Given the description of an element on the screen output the (x, y) to click on. 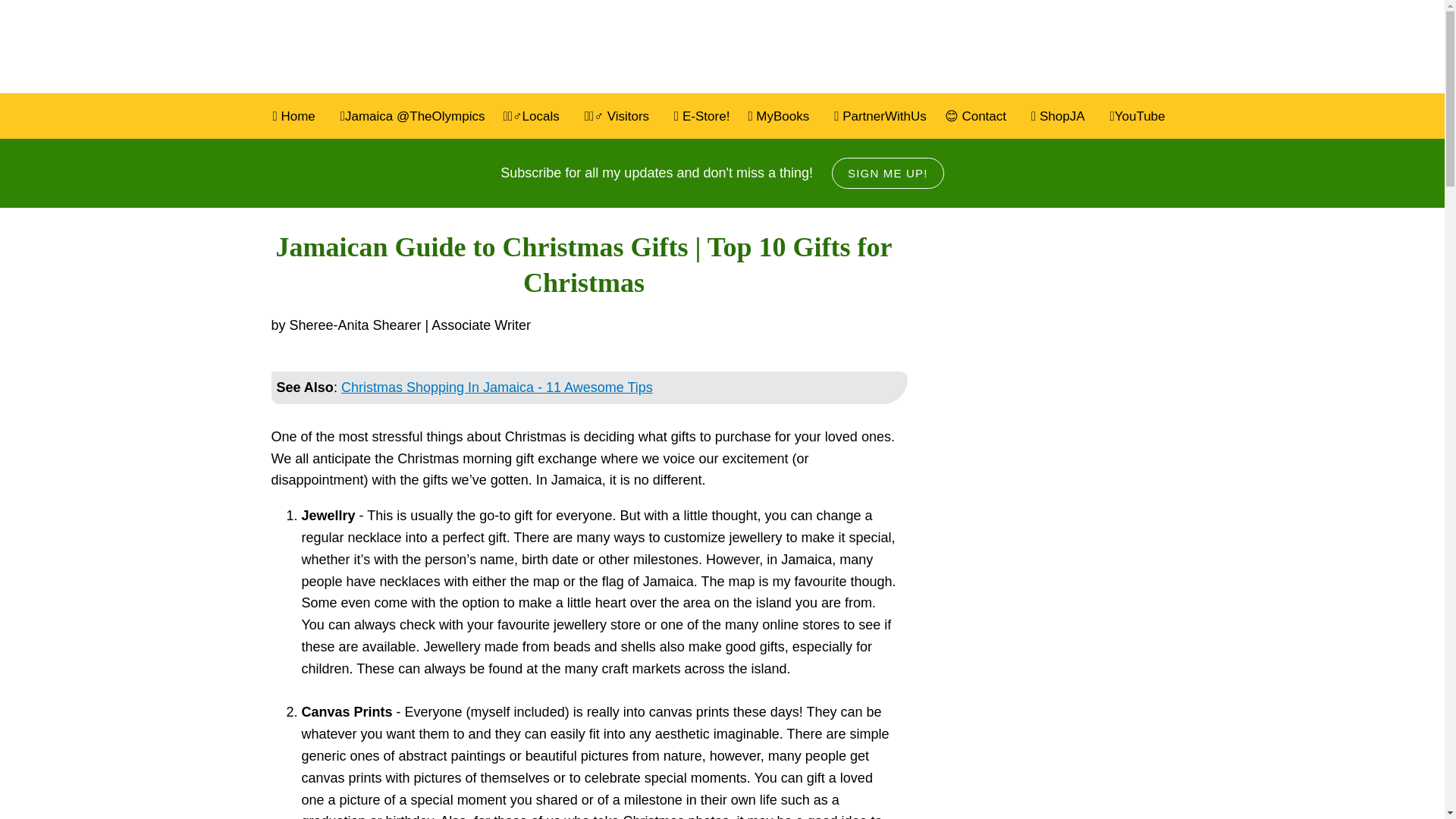
MY WEBSITE (423, 46)
